Given the description of an element on the screen output the (x, y) to click on. 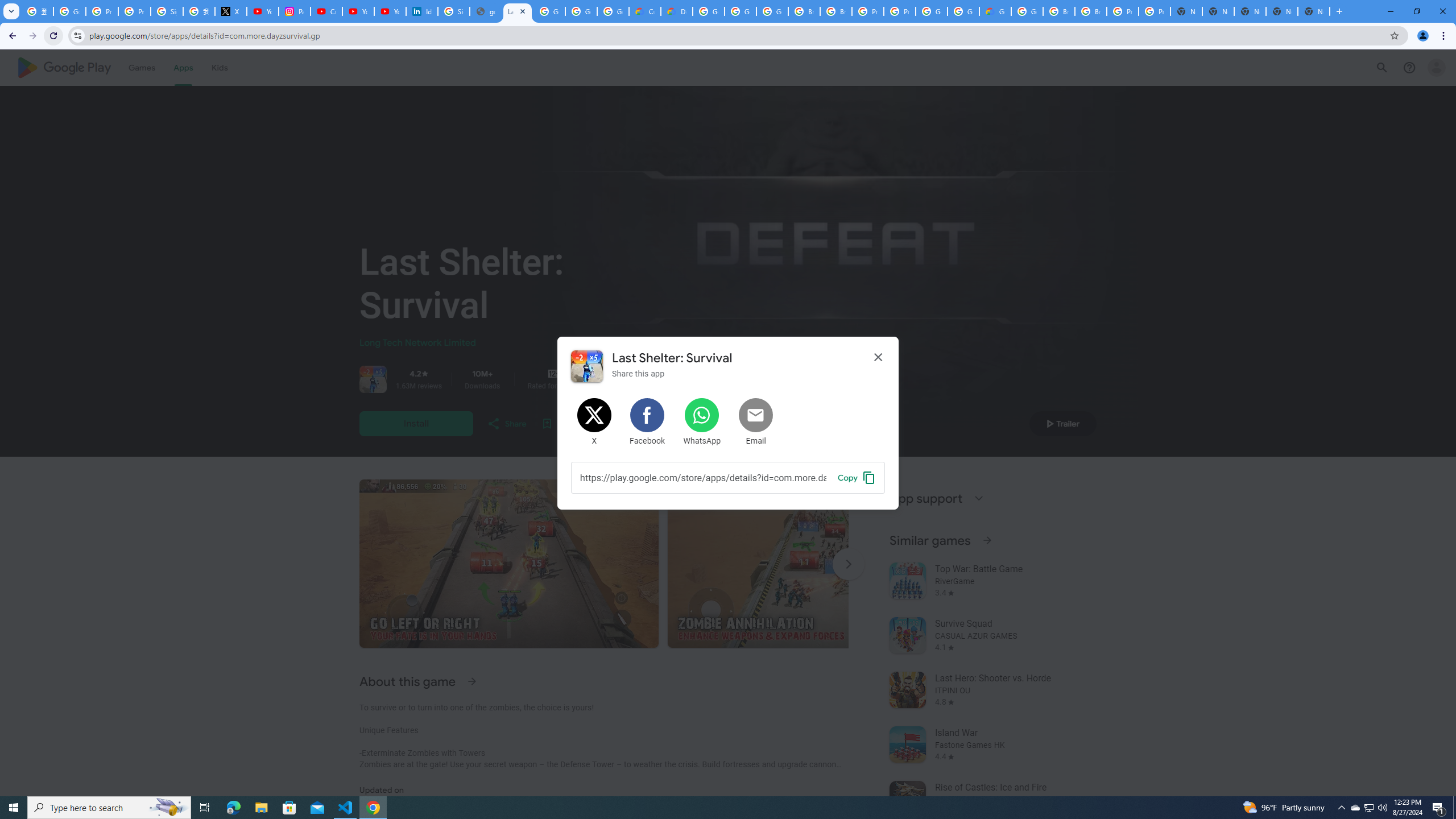
Copy link to clipboard (703, 477)
Share on Facebook (647, 421)
New Tab (1313, 11)
Sign in - Google Accounts (166, 11)
X (230, 11)
Google Cloud Platform (1027, 11)
